Given the description of an element on the screen output the (x, y) to click on. 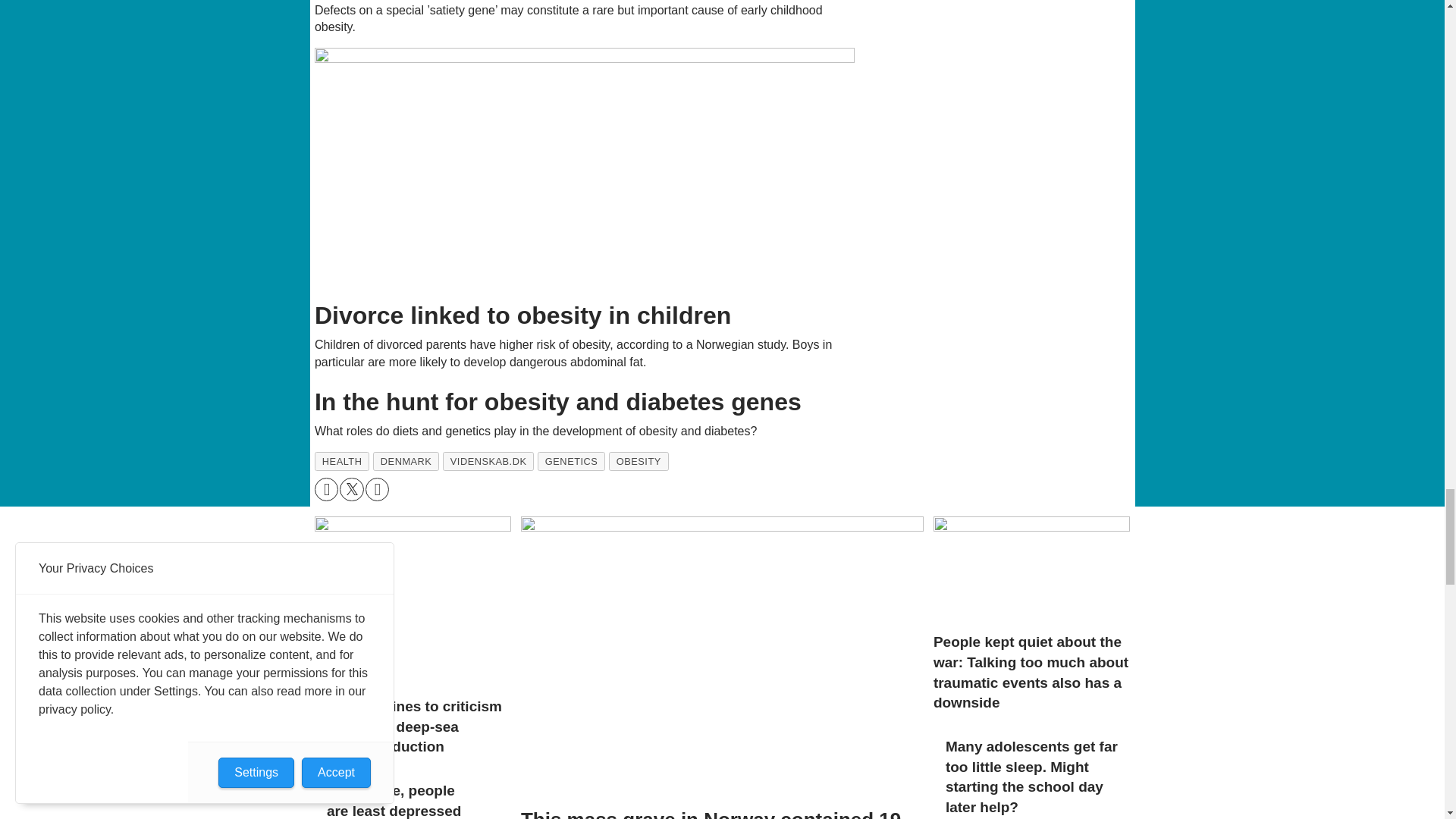
GENETICS (571, 461)
DENMARK (405, 461)
HEALTH (341, 461)
VIDENSKAB.DK (488, 461)
OBESITY (638, 461)
Divorce linked to obesity in children (585, 169)
